Given the description of an element on the screen output the (x, y) to click on. 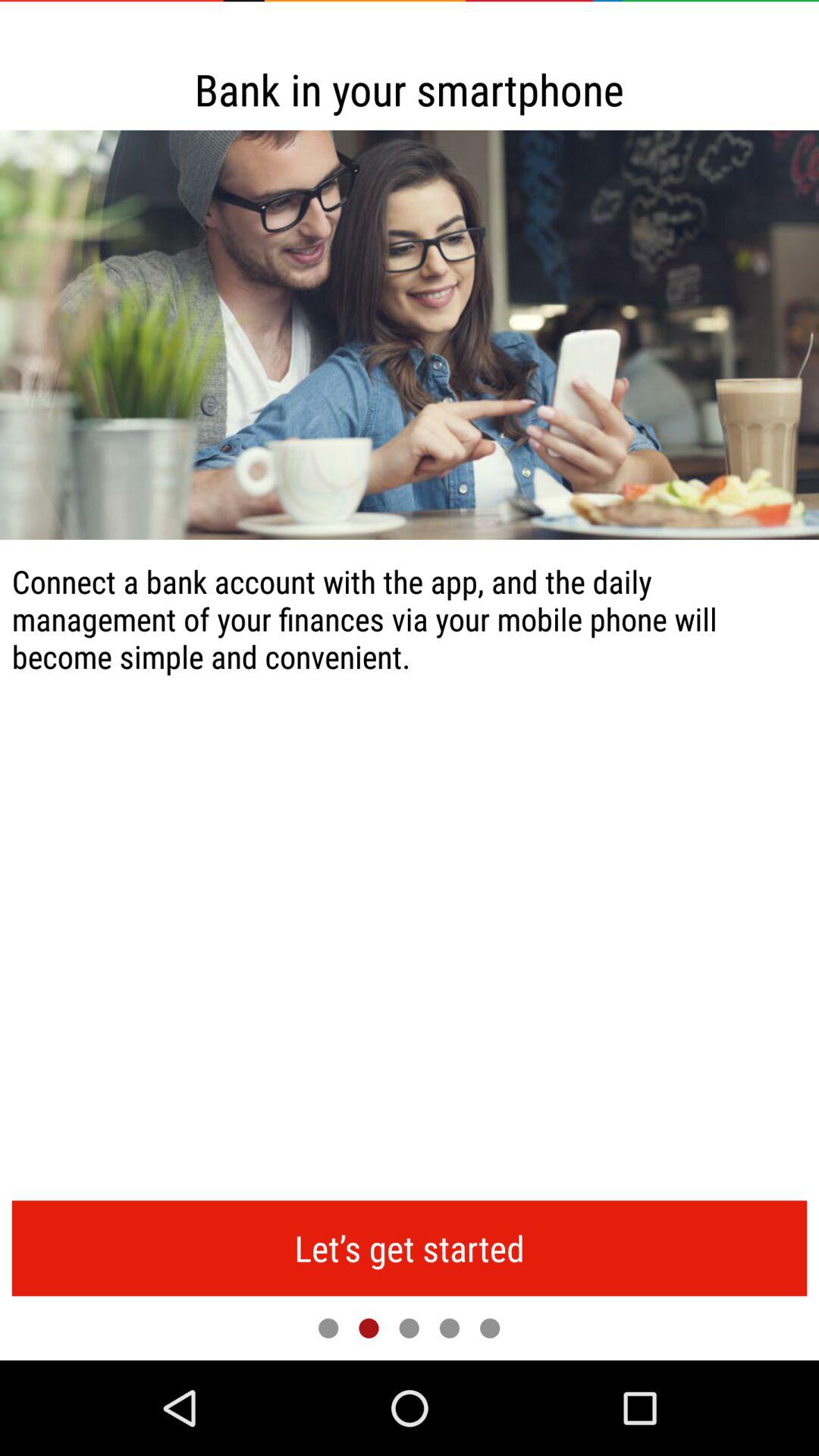
turn off app below the connect a bank icon (409, 1248)
